Given the description of an element on the screen output the (x, y) to click on. 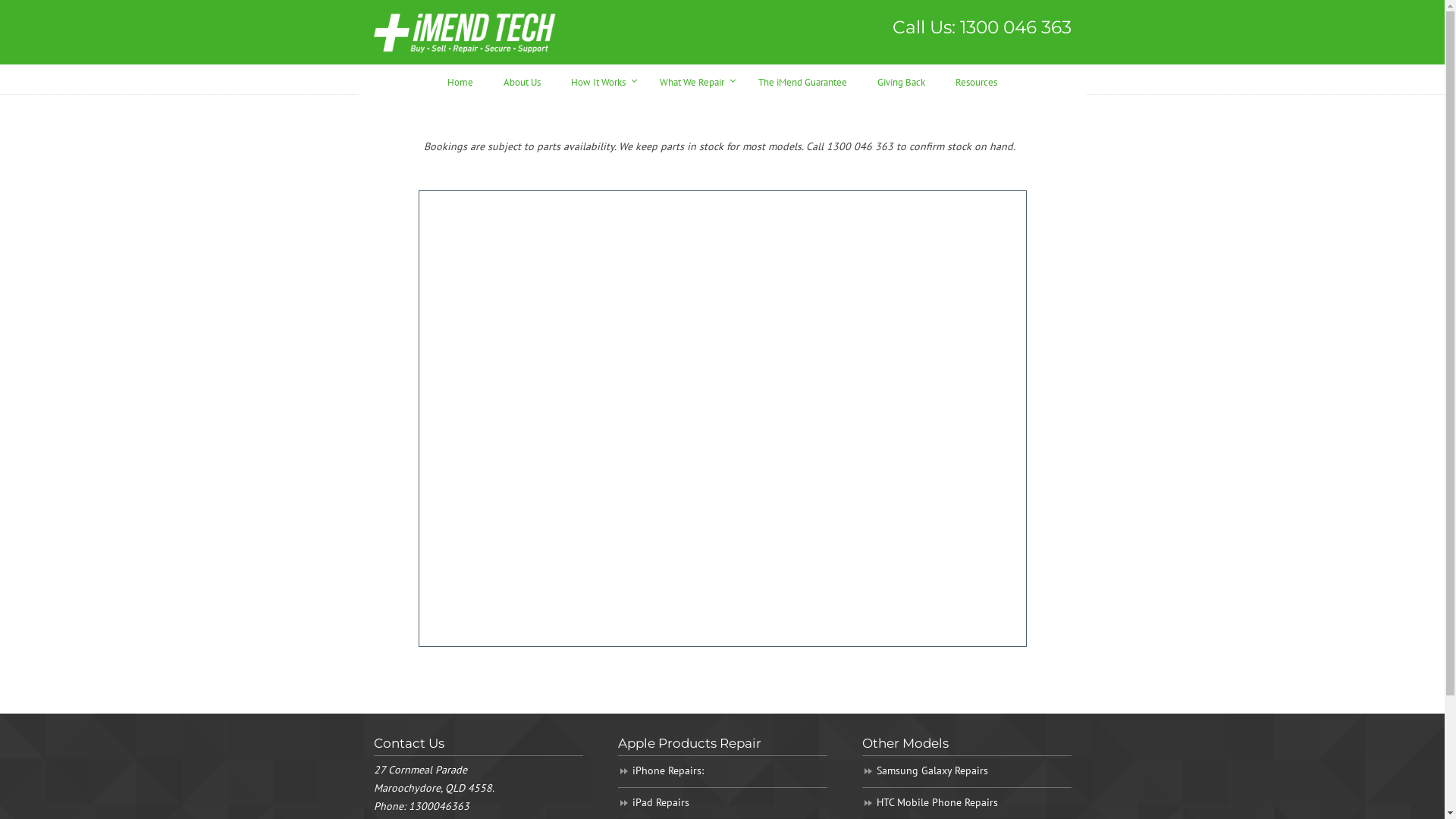
About Us Element type: text (521, 79)
The iMend Guarantee Element type: text (802, 79)
What We Repair Element type: text (693, 79)
1300046363 Element type: text (437, 805)
How It Works Element type: text (599, 79)
Giving Back Element type: text (901, 79)
Resources Element type: text (976, 79)
Samsung Galaxy Repairs Element type: text (965, 771)
Call Us: 1300 046 363 Element type: text (980, 26)
Home Element type: text (460, 79)
iMend Tech Smart Phone Tablet Repair Element type: text (464, 32)
iPhone Repairs: Element type: text (721, 771)
